Given the description of an element on the screen output the (x, y) to click on. 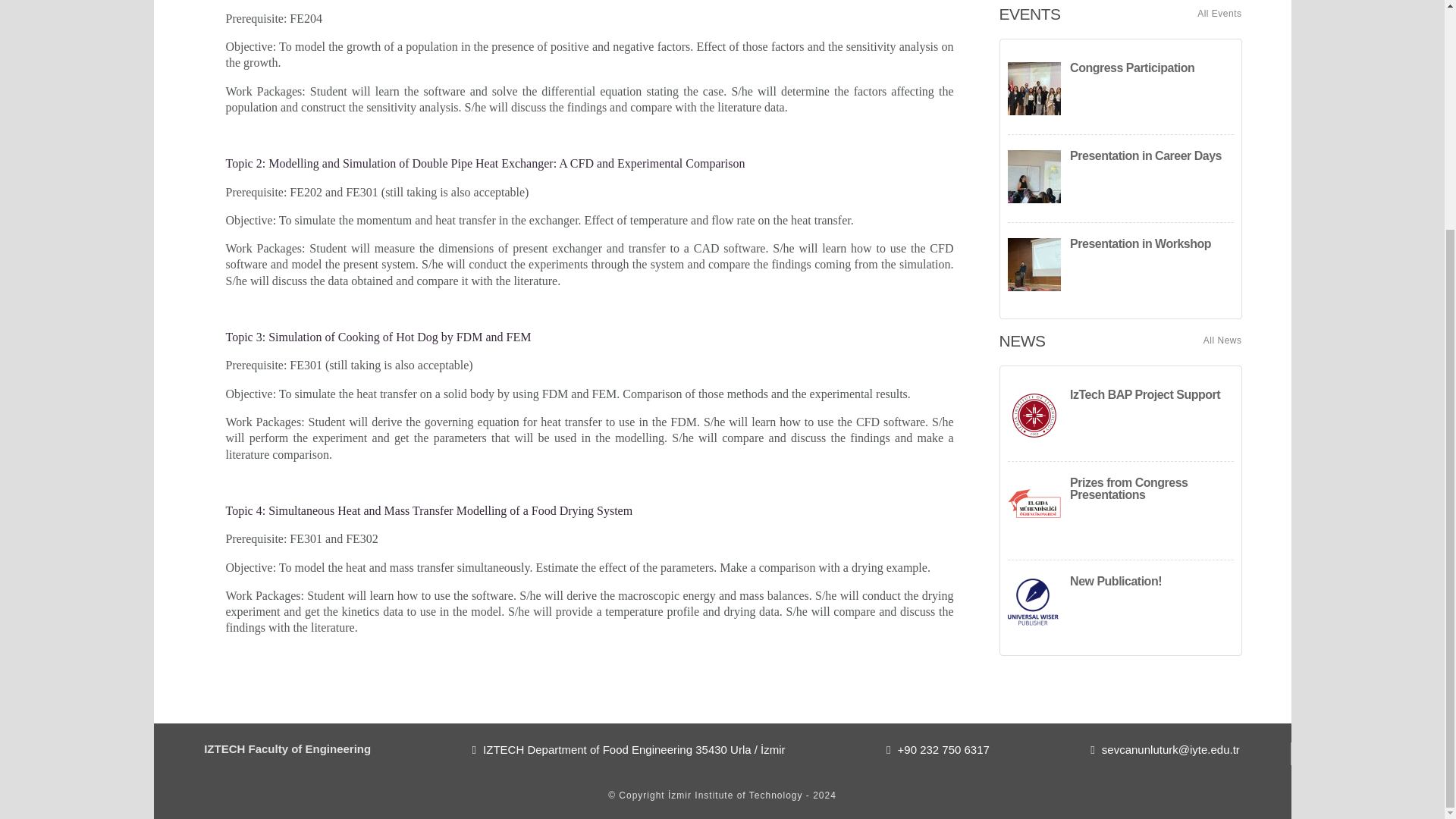
Presentation in Career Days (1120, 178)
Presentation in Workshop (1120, 266)
Congress Participation (1120, 90)
All Events (1218, 13)
